Given the description of an element on the screen output the (x, y) to click on. 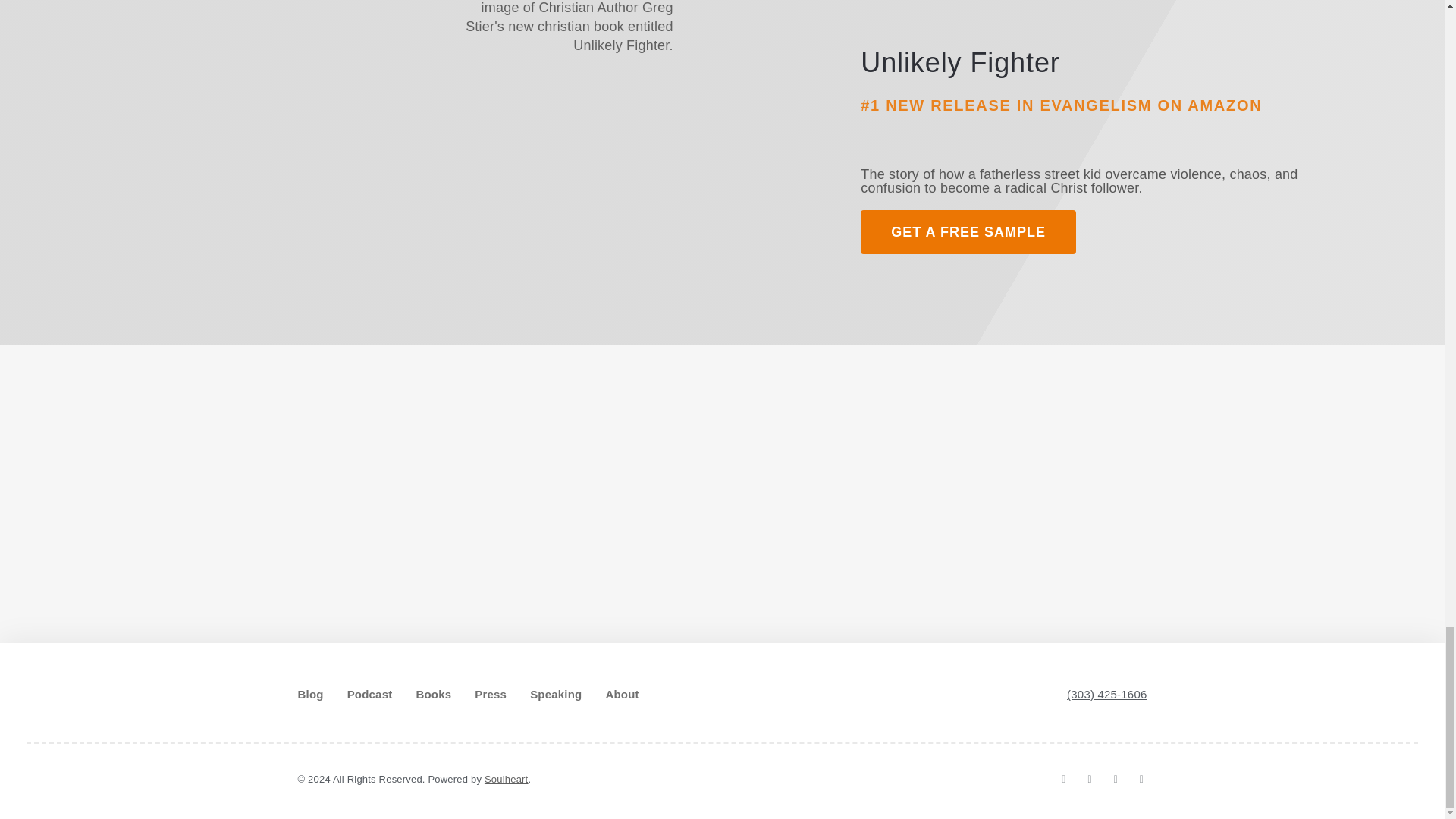
Podcast (370, 694)
About (622, 694)
Books (432, 694)
Speaking (554, 694)
GET A FREE SAMPLE (967, 231)
Press (490, 694)
